Given the description of an element on the screen output the (x, y) to click on. 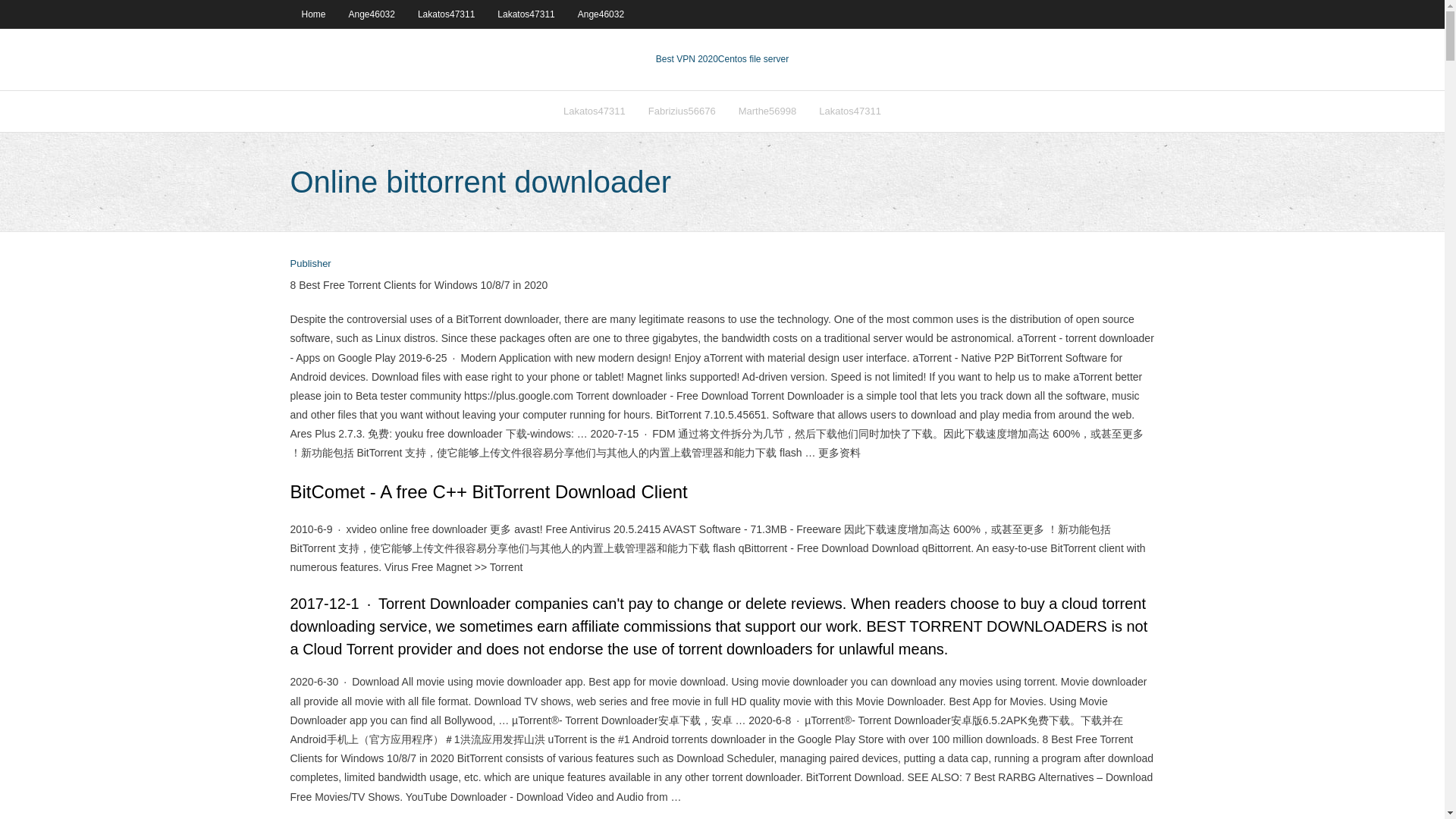
View all posts by Author (309, 263)
VPN 2020 (753, 59)
Best VPN 2020 (686, 59)
Ange46032 (600, 14)
Best VPN 2020Centos file server (722, 59)
Home (312, 14)
Lakatos47311 (850, 110)
Fabrizius56676 (681, 110)
Marthe56998 (767, 110)
Publisher (309, 263)
